Given the description of an element on the screen output the (x, y) to click on. 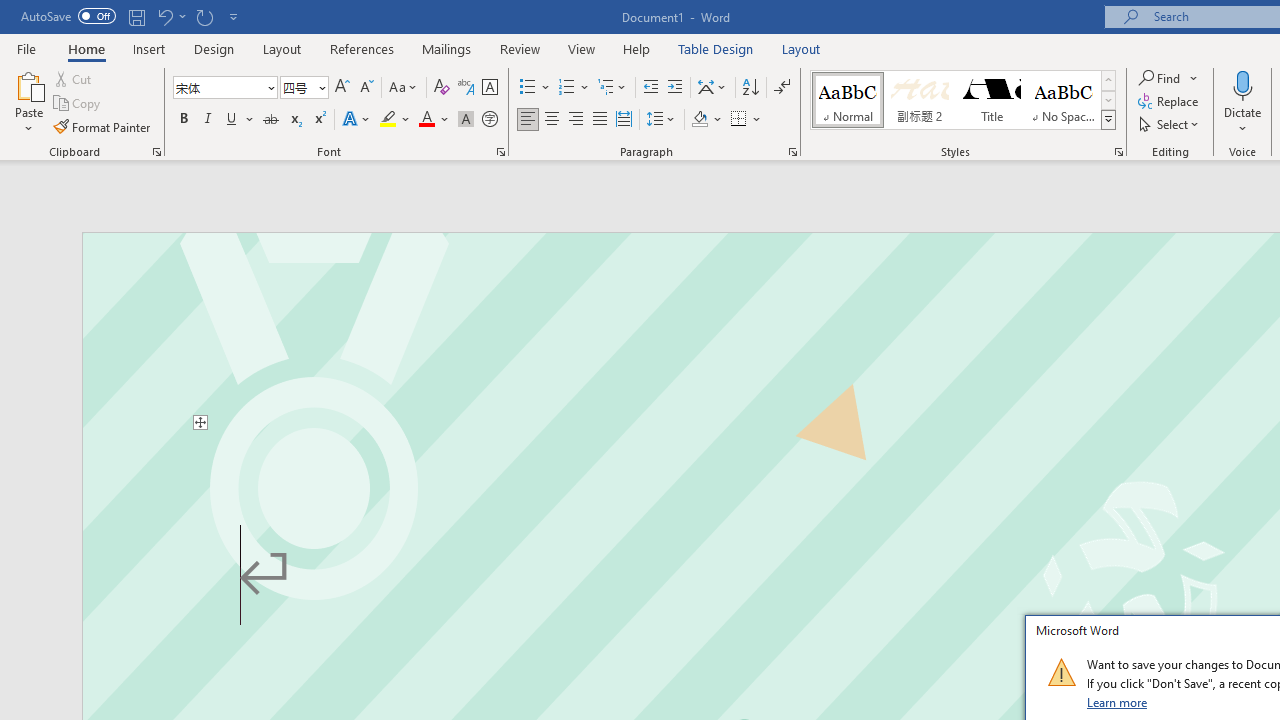
Learn more (1118, 702)
AutomationID: QuickStylesGallery (963, 99)
